Given the description of an element on the screen output the (x, y) to click on. 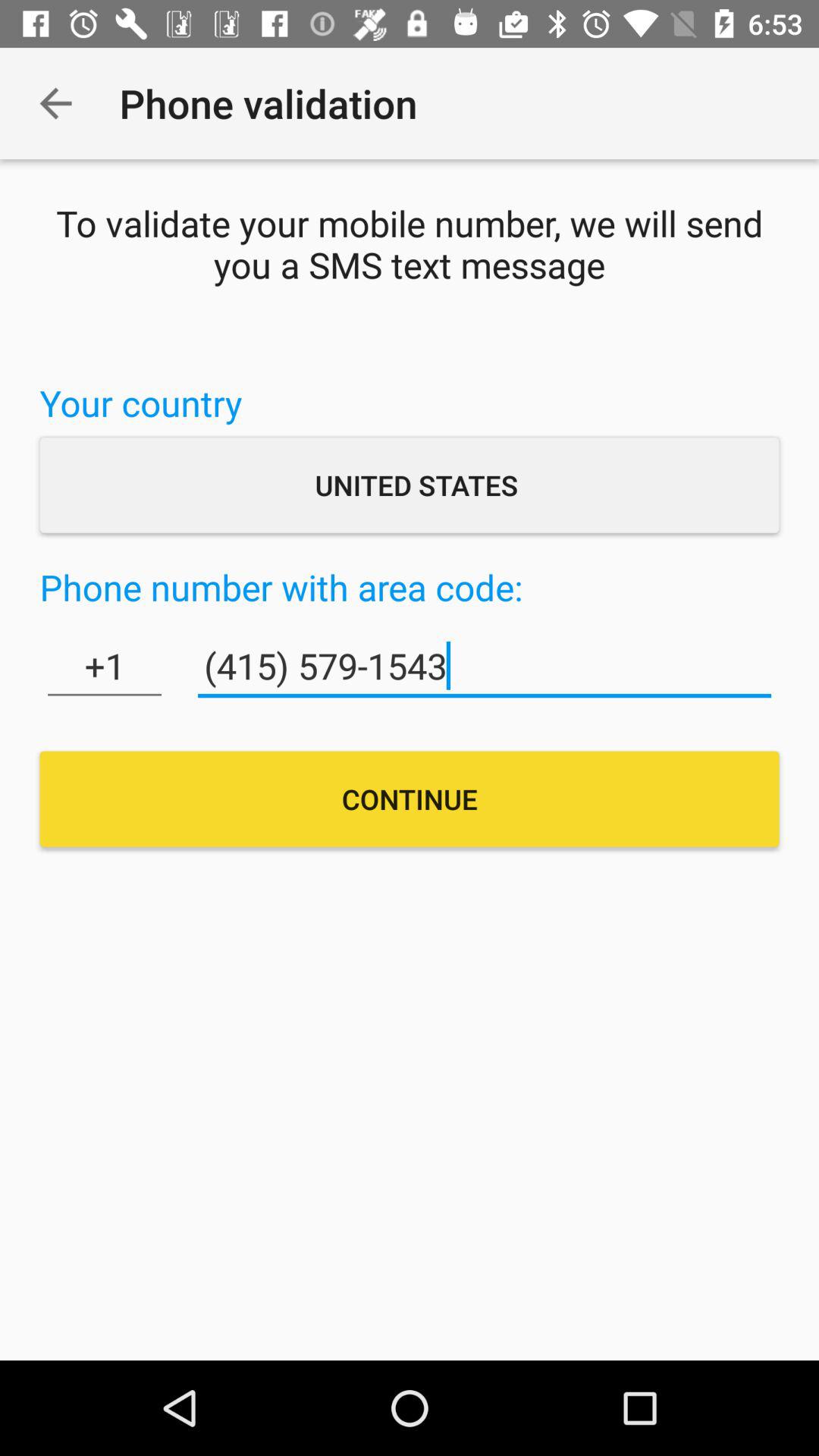
turn off the icon on the left (104, 666)
